Given the description of an element on the screen output the (x, y) to click on. 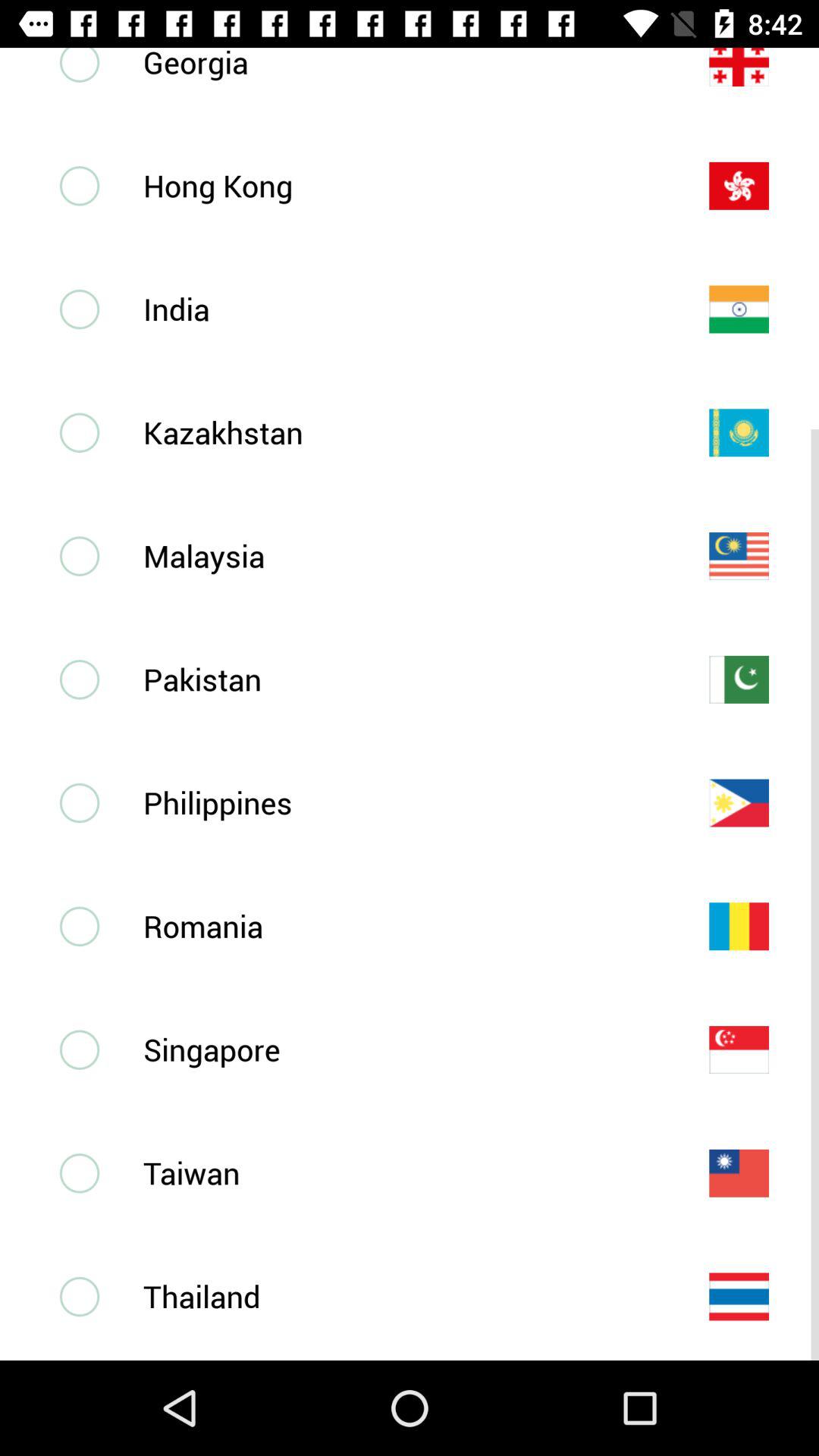
jump to the pakistan item (401, 679)
